Given the description of an element on the screen output the (x, y) to click on. 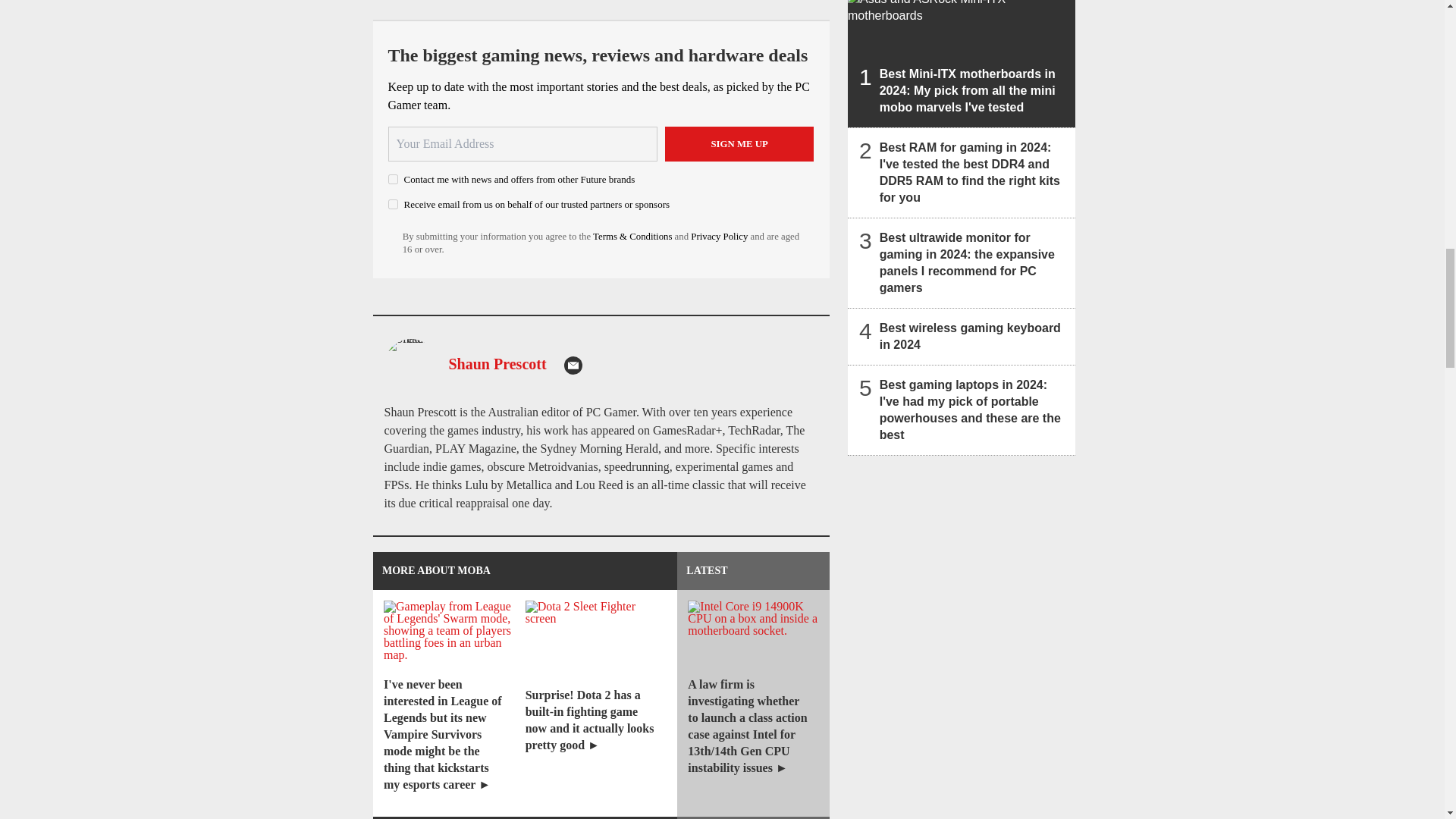
Sign me up (739, 143)
on (392, 179)
on (392, 204)
